Given the description of an element on the screen output the (x, y) to click on. 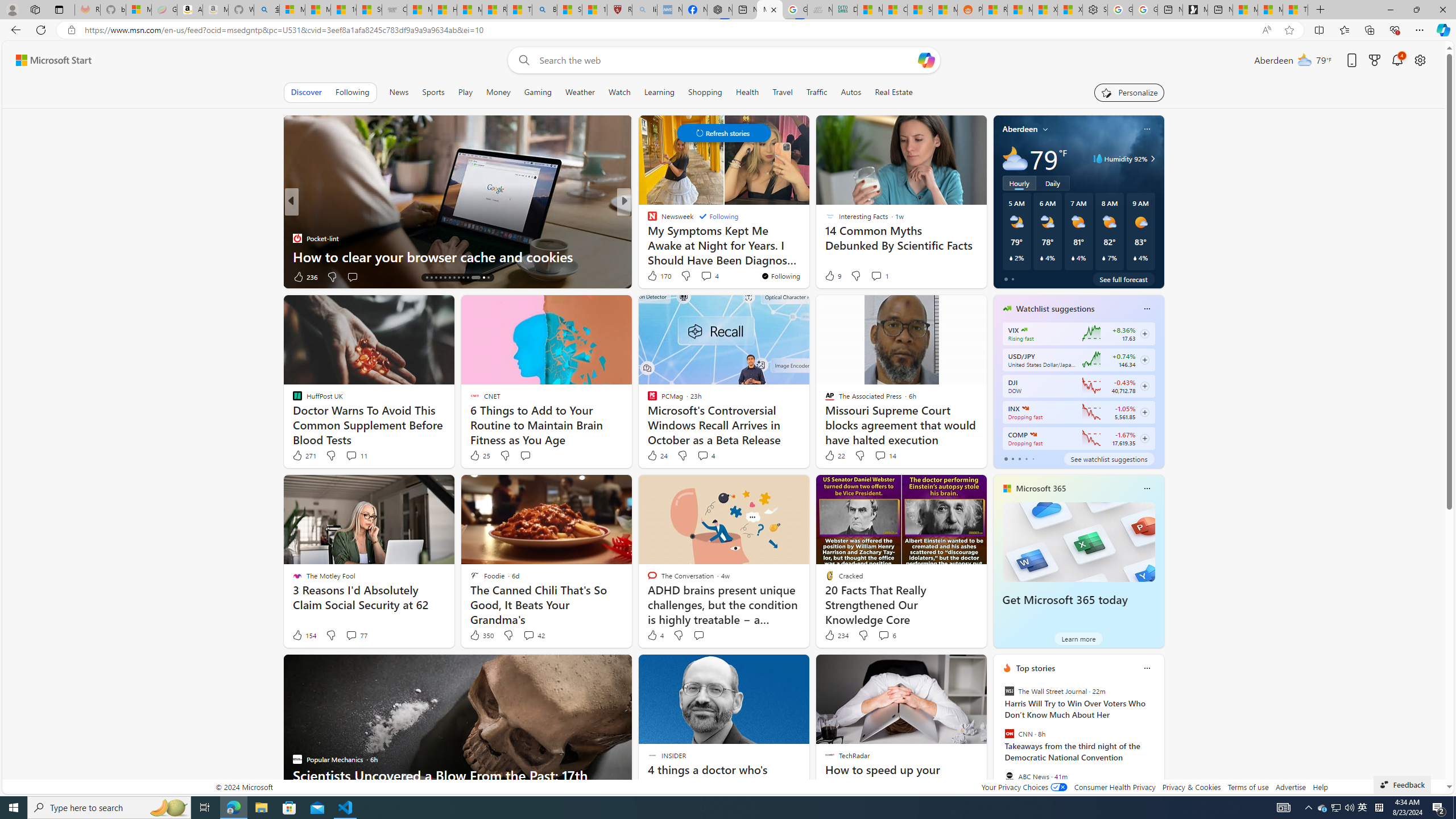
View comments 14 Comment (879, 455)
You're following Newsweek (780, 275)
Play (465, 92)
TODAY (647, 219)
View comments 1 Comment (879, 275)
The Wall Street Journal (1008, 691)
View comments 34 Comment (707, 276)
AutomationID: tab-14 (426, 277)
